Given the description of an element on the screen output the (x, y) to click on. 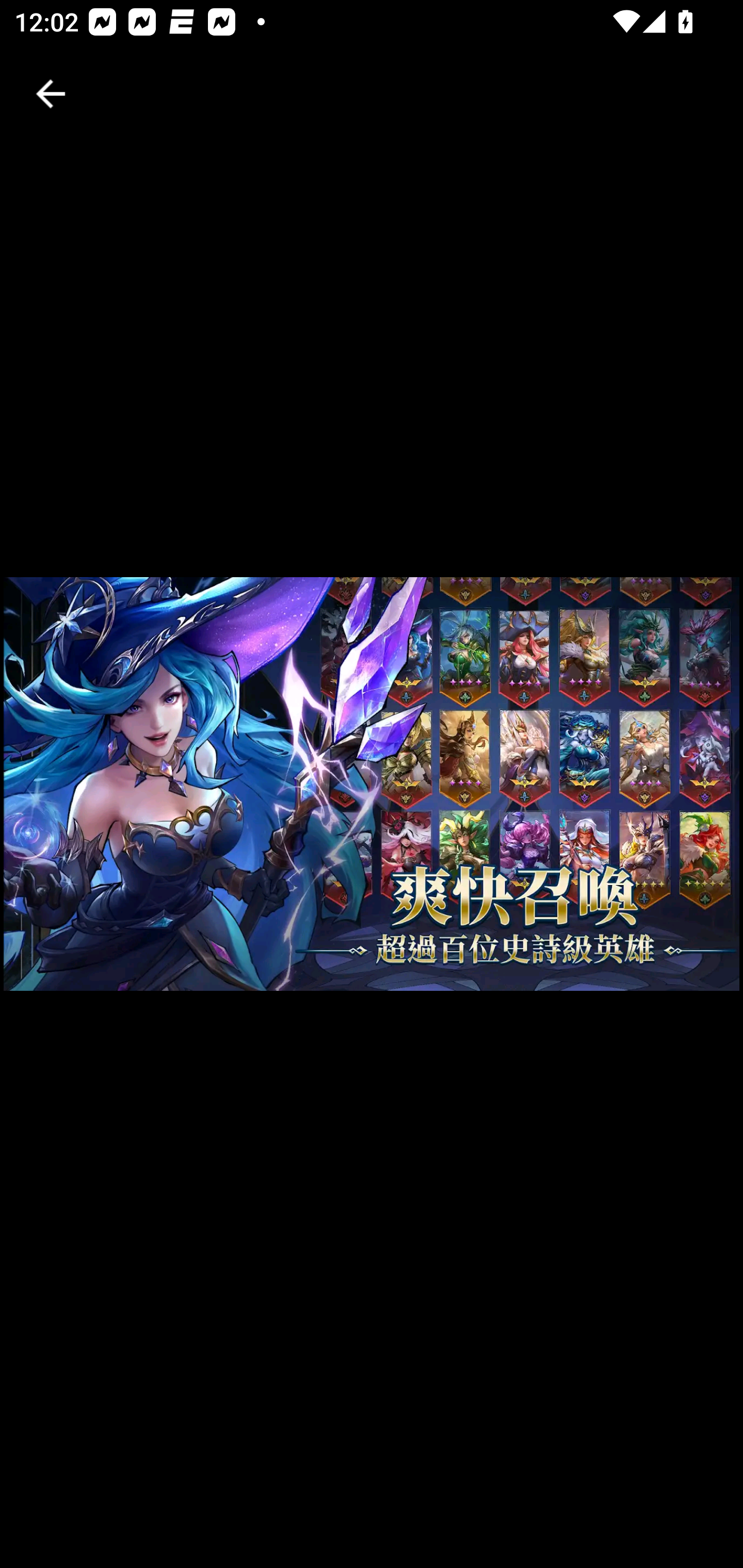
Back (50, 93)
